Given the description of an element on the screen output the (x, y) to click on. 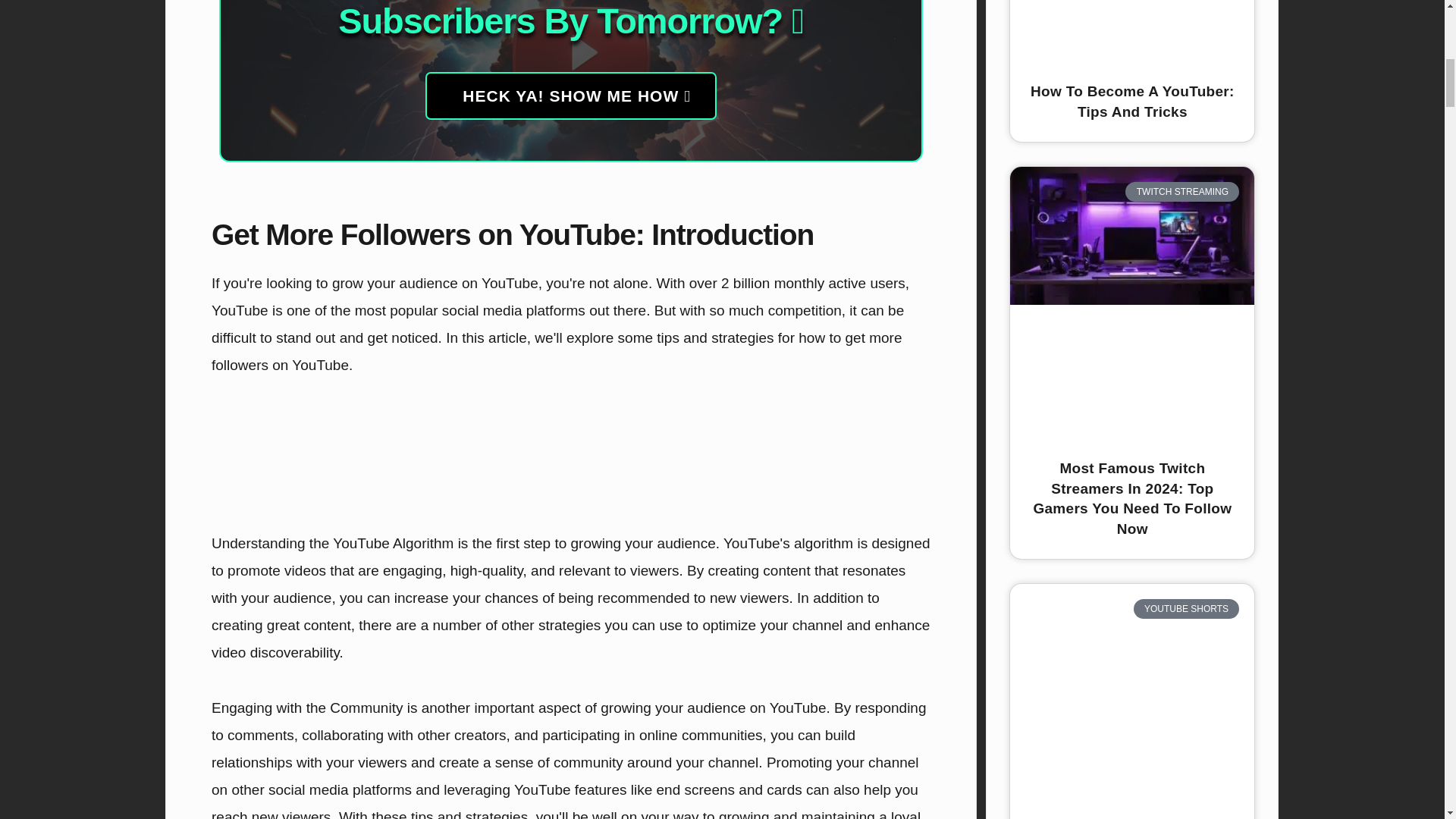
Understanding the YouTube Algorithm (331, 543)
creating content that resonates (806, 570)
grow your audience on YouTube (434, 283)
HECK YA! SHOW ME HOW (570, 96)
increase your chances of being recommended (542, 597)
